Given the description of an element on the screen output the (x, y) to click on. 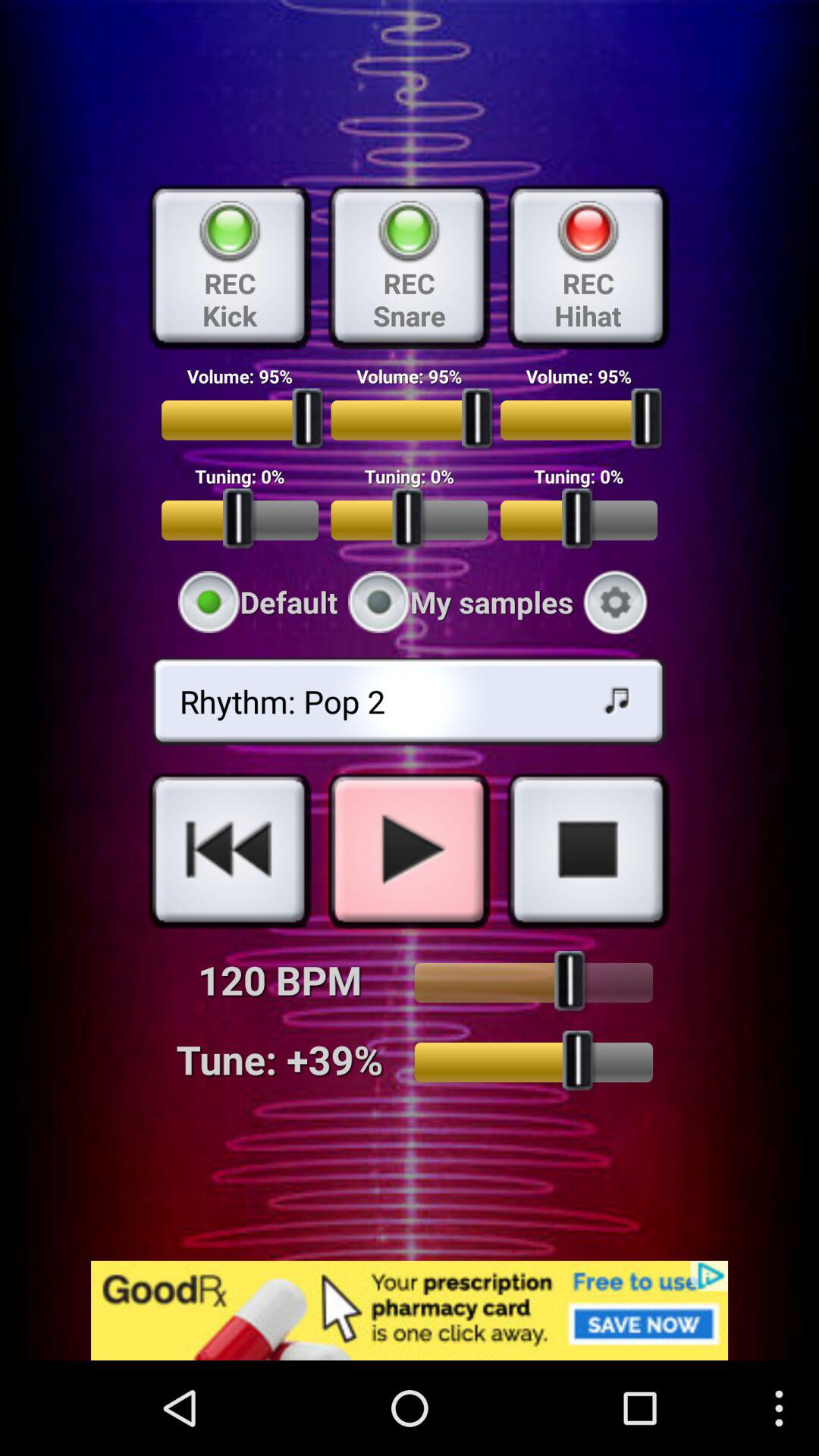
up button (533, 982)
